Given the description of an element on the screen output the (x, y) to click on. 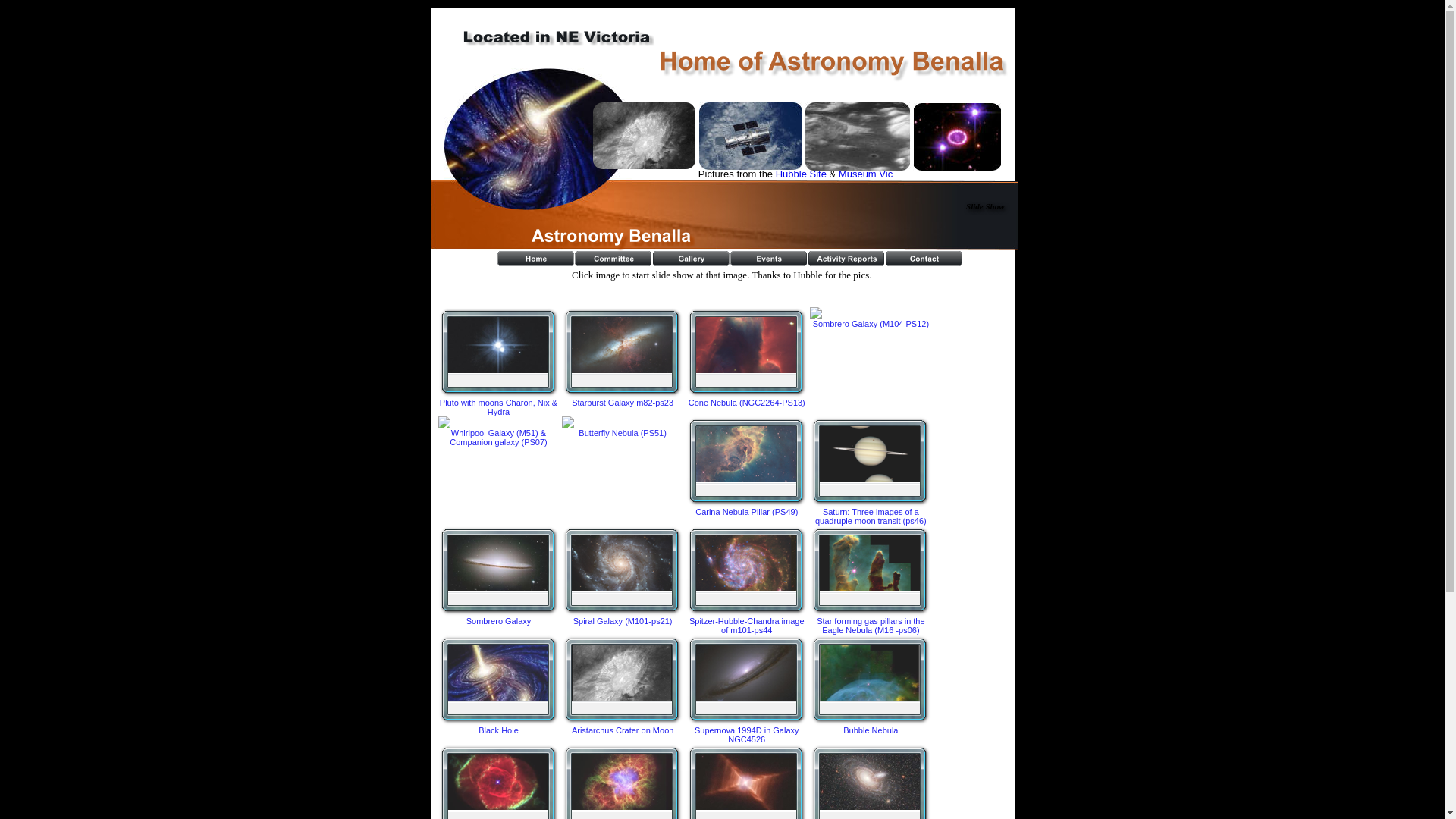
Star forming gas pillars in the Eagle Nebula (M16 -ps06) Element type: text (870, 579)
Saturn: Three images of a quadruple moon transit (ps46) Element type: text (870, 470)
Aristarchus crater - Moon  Element type: hover (644, 135)
Starburst Galaxy m82-ps23 Element type: text (622, 357)
Hubble Orbiting Earth Element type: hover (751, 136)
Hubble Site Element type: text (800, 173)
Cosmic Pearls around Exploding Star Element type: hover (957, 137)
Carina Nebula Pillar (PS49) Element type: text (746, 466)
Aristarchus Crater on Moon Element type: text (622, 684)
Whirlpool Galaxy (M51) & Companion galaxy (PS07) Element type: text (498, 431)
Butterfly Nebula (PS51) Element type: text (622, 426)
Black Hole Element type: hover (538, 139)
Spitzer-Hubble-Chandra image of m101-ps44 Element type: text (746, 579)
Cone Nebula (NGC2264-PS13) Element type: text (746, 357)
Supernova 1994D in Galaxy NGC4526 Element type: text (746, 688)
Apollo 7 Landing Site Element type: hover (856, 136)
Black Hole Element type: text (498, 684)
Museum Vic Element type: text (865, 173)
Pluto with moons Charon, Nix & Hydra Element type: text (498, 361)
Spiral Galaxy (M101-ps21) Element type: text (622, 575)
Sombrero Galaxy Element type: text (498, 575)
Bubble Nebula Element type: text (870, 684)
Sombrero Galaxy (M104 PS12) Element type: text (870, 317)
